Given the description of an element on the screen output the (x, y) to click on. 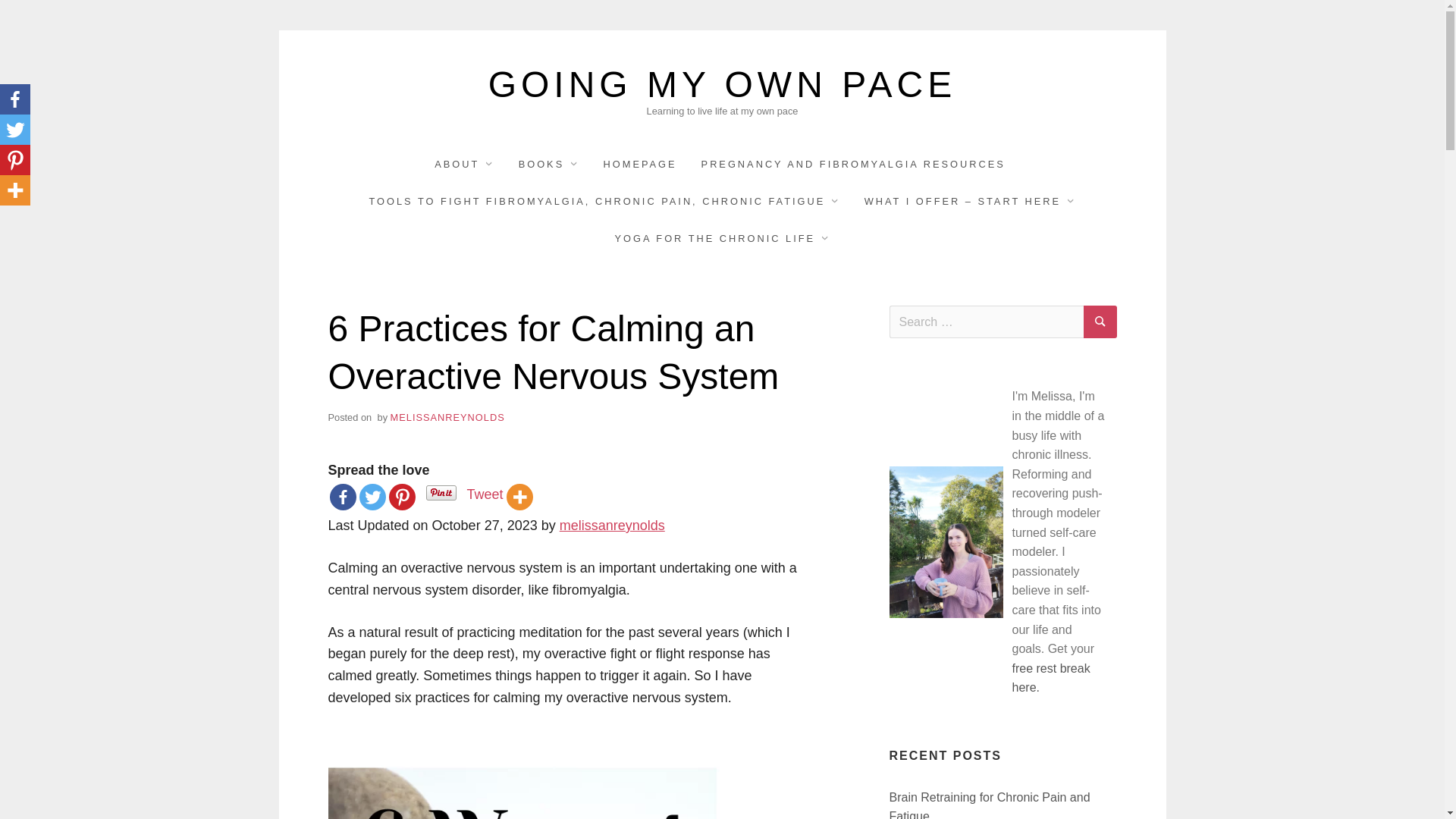
More (519, 497)
YOGA FOR THE CHRONIC LIFE (722, 238)
GOING MY OWN PACE (721, 84)
Facebook (342, 497)
Twitter (372, 497)
More (15, 190)
BOOKS (548, 163)
Twitter (15, 129)
PREGNANCY AND FIBROMYALGIA RESOURCES (853, 163)
ABOUT (463, 163)
HOMEPAGE (639, 163)
Pinterest (401, 497)
Facebook (15, 99)
Pinterest (15, 159)
